Given the description of an element on the screen output the (x, y) to click on. 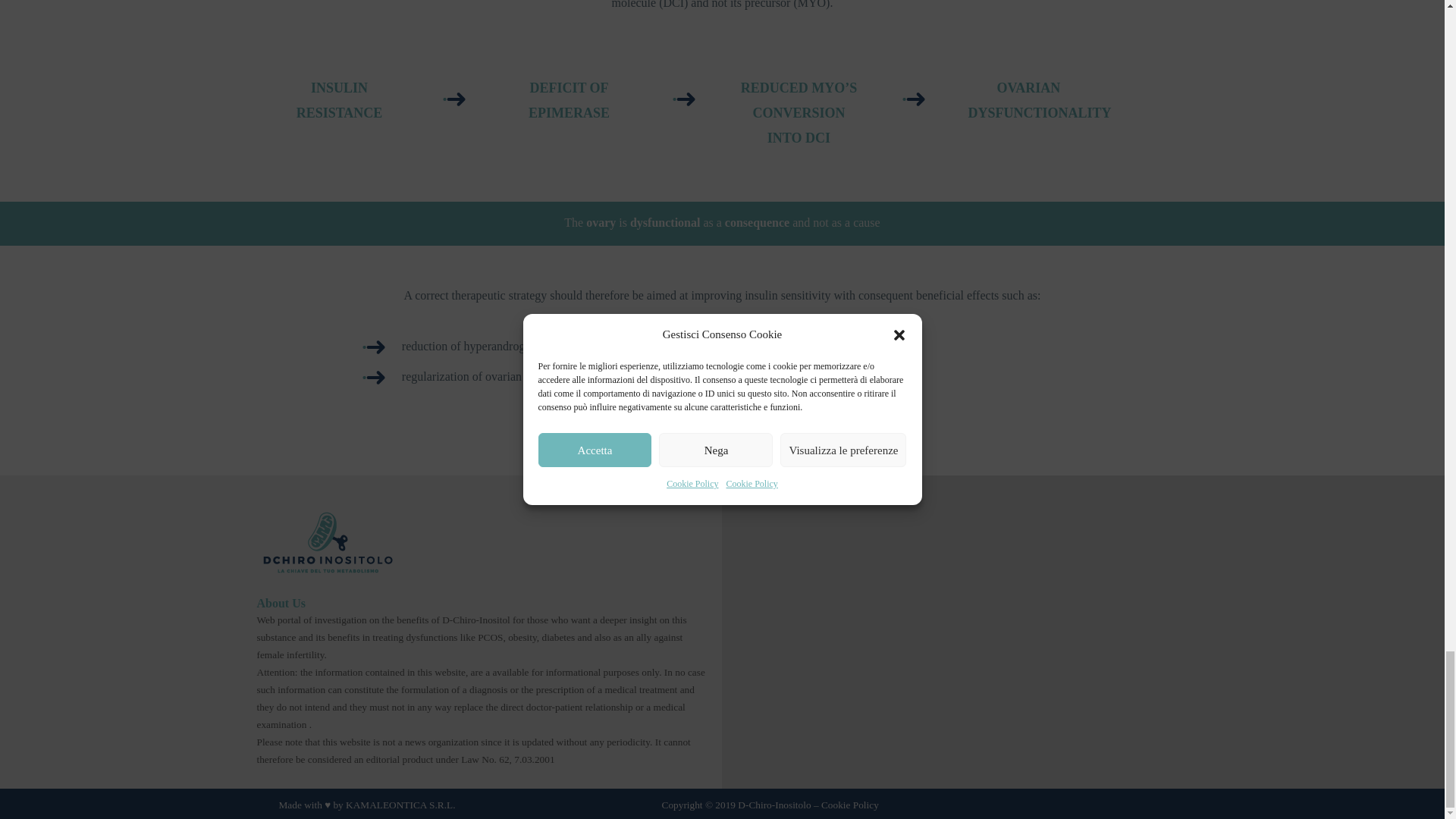
Go to PCOS page for a deeper insight (721, 443)
left-arrow (683, 97)
left-arrow (913, 97)
logo-186 (326, 542)
left-arrow (453, 97)
Cookie Policy (850, 804)
